Given the description of an element on the screen output the (x, y) to click on. 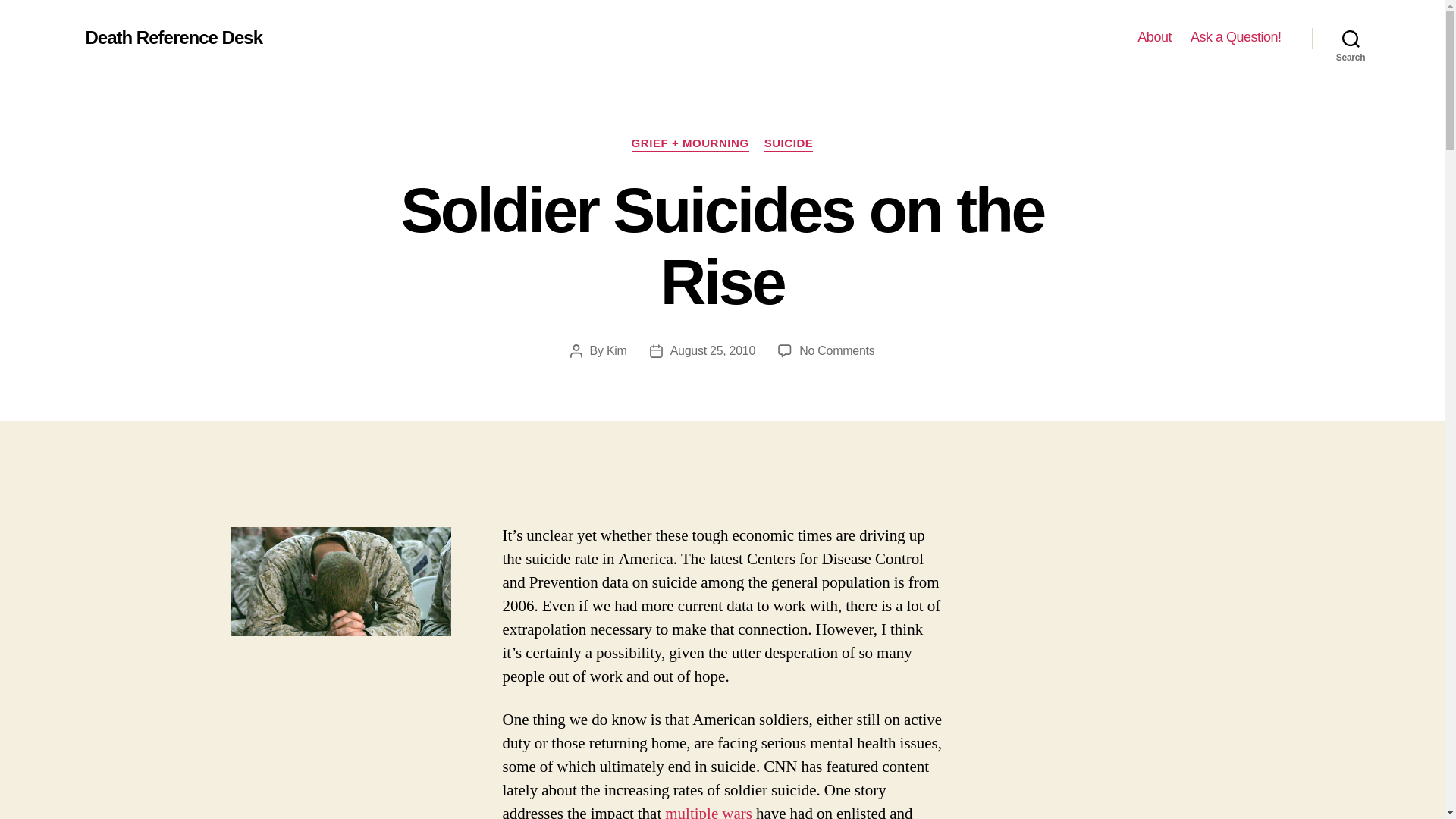
Search (1350, 37)
Ask a Question! (837, 350)
About (1236, 37)
Kim (1154, 37)
Death Reference Desk (617, 350)
multiple wars (173, 37)
SUICIDE (708, 811)
August 25, 2010 (788, 143)
